Given the description of an element on the screen output the (x, y) to click on. 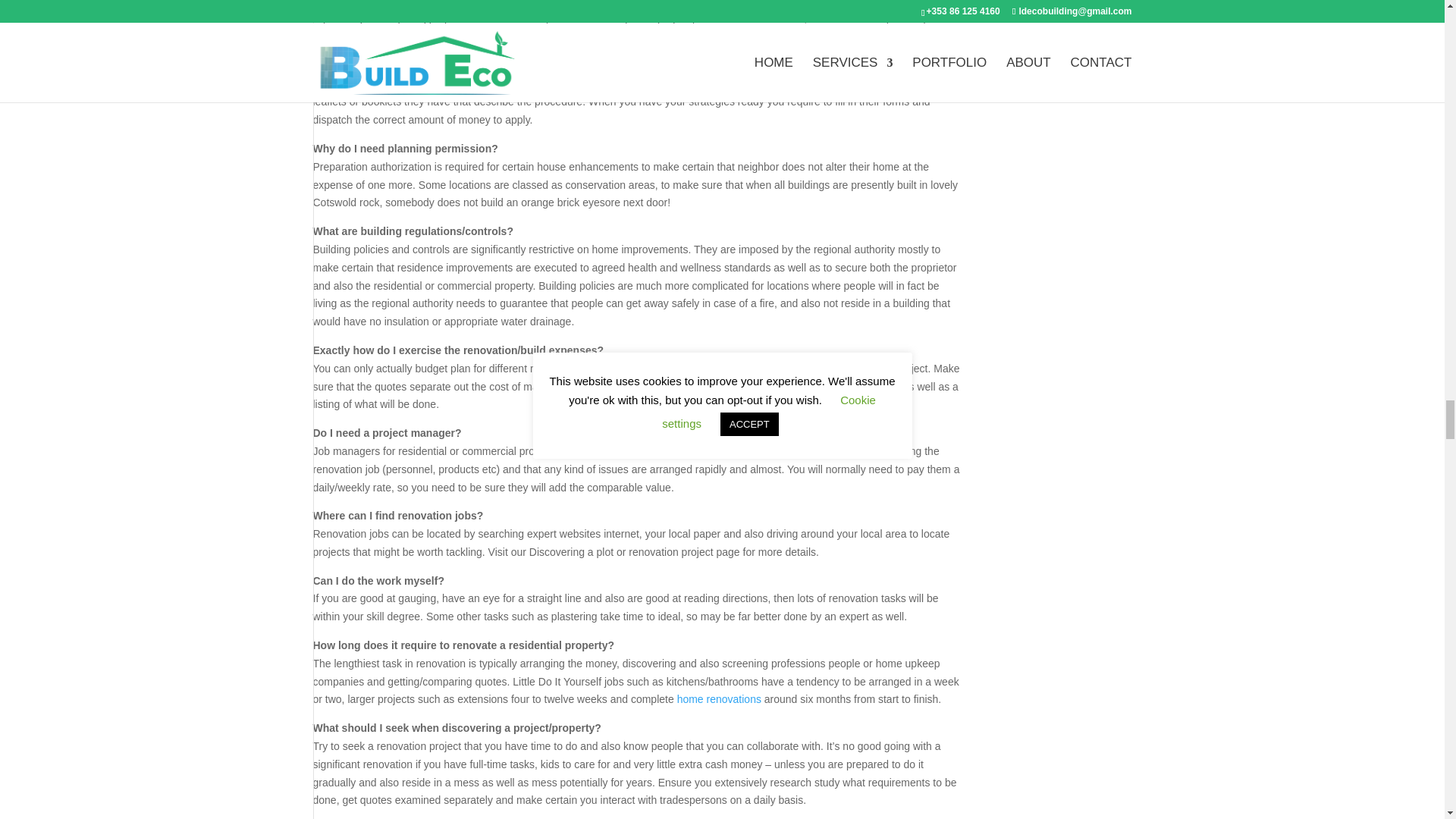
home renovations (719, 698)
